Given the description of an element on the screen output the (x, y) to click on. 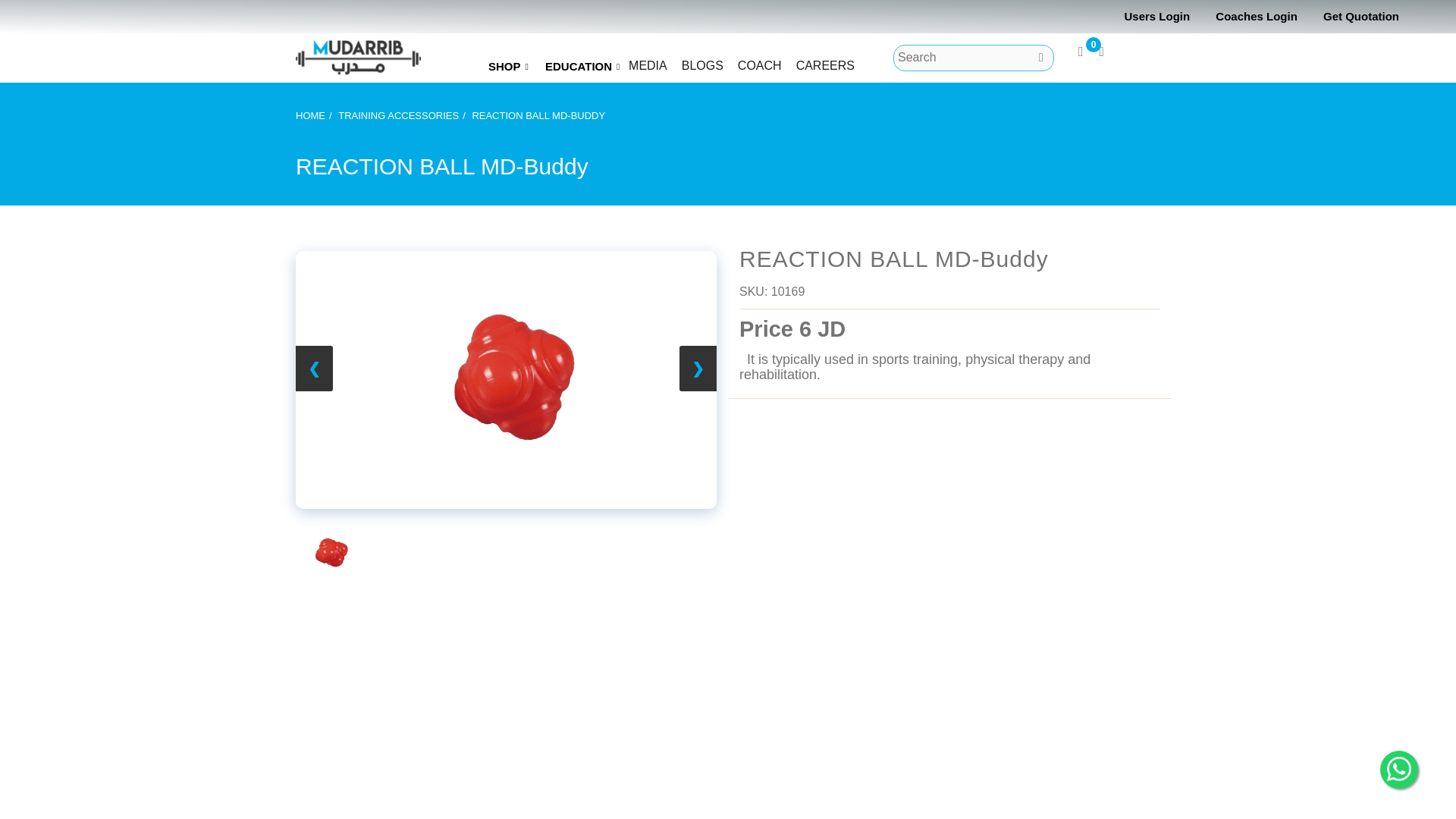
SHOP (507, 60)
Coaches Login (1256, 15)
EDUCATION (582, 60)
Users Login (1156, 15)
Get Quotation (1361, 15)
